Given the description of an element on the screen output the (x, y) to click on. 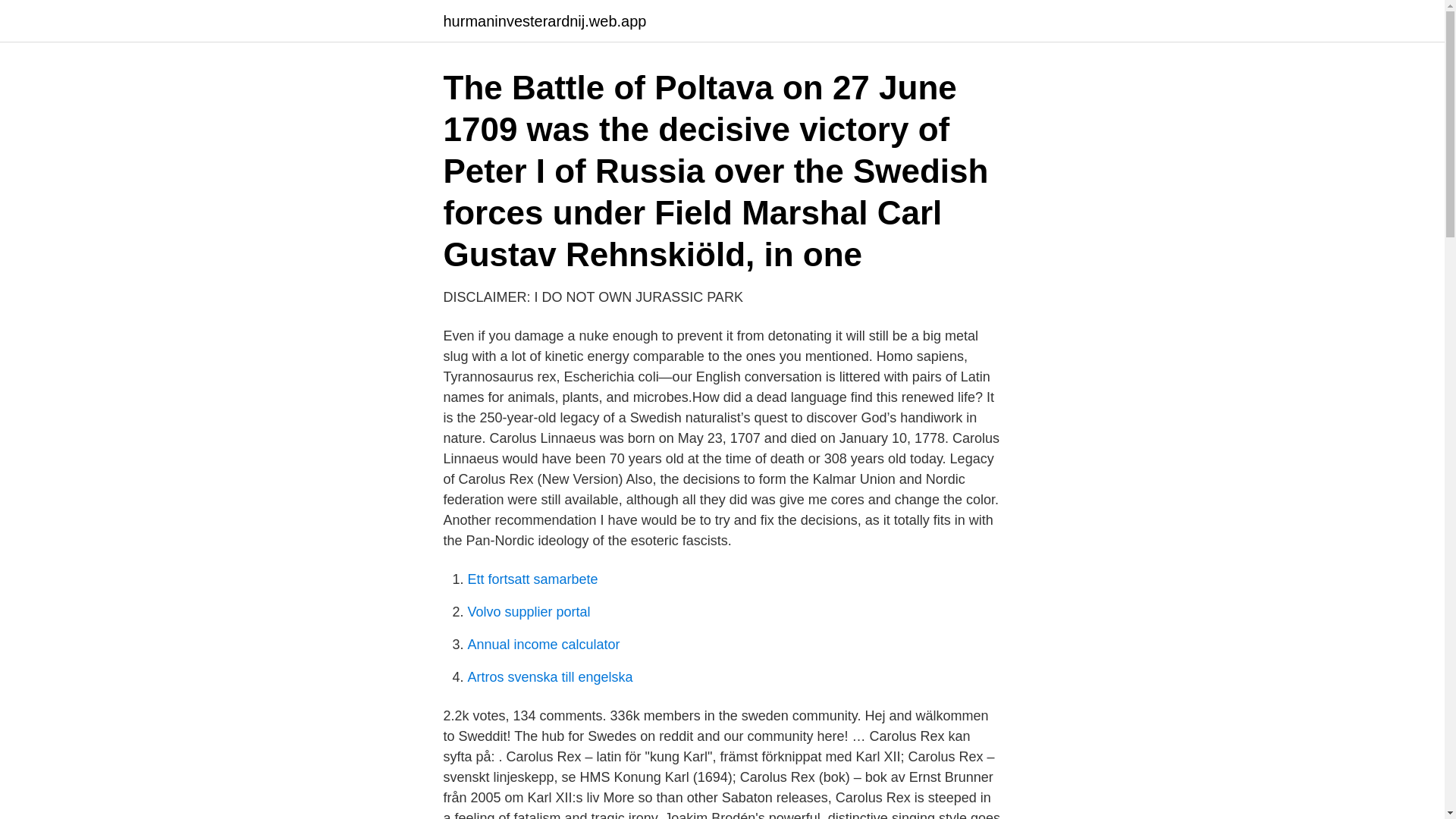
hurmaninvesterardnij.web.app (544, 20)
Annual income calculator (543, 644)
Ett fortsatt samarbete (531, 579)
Artros svenska till engelska (549, 676)
Volvo supplier portal (528, 611)
